Given the description of an element on the screen output the (x, y) to click on. 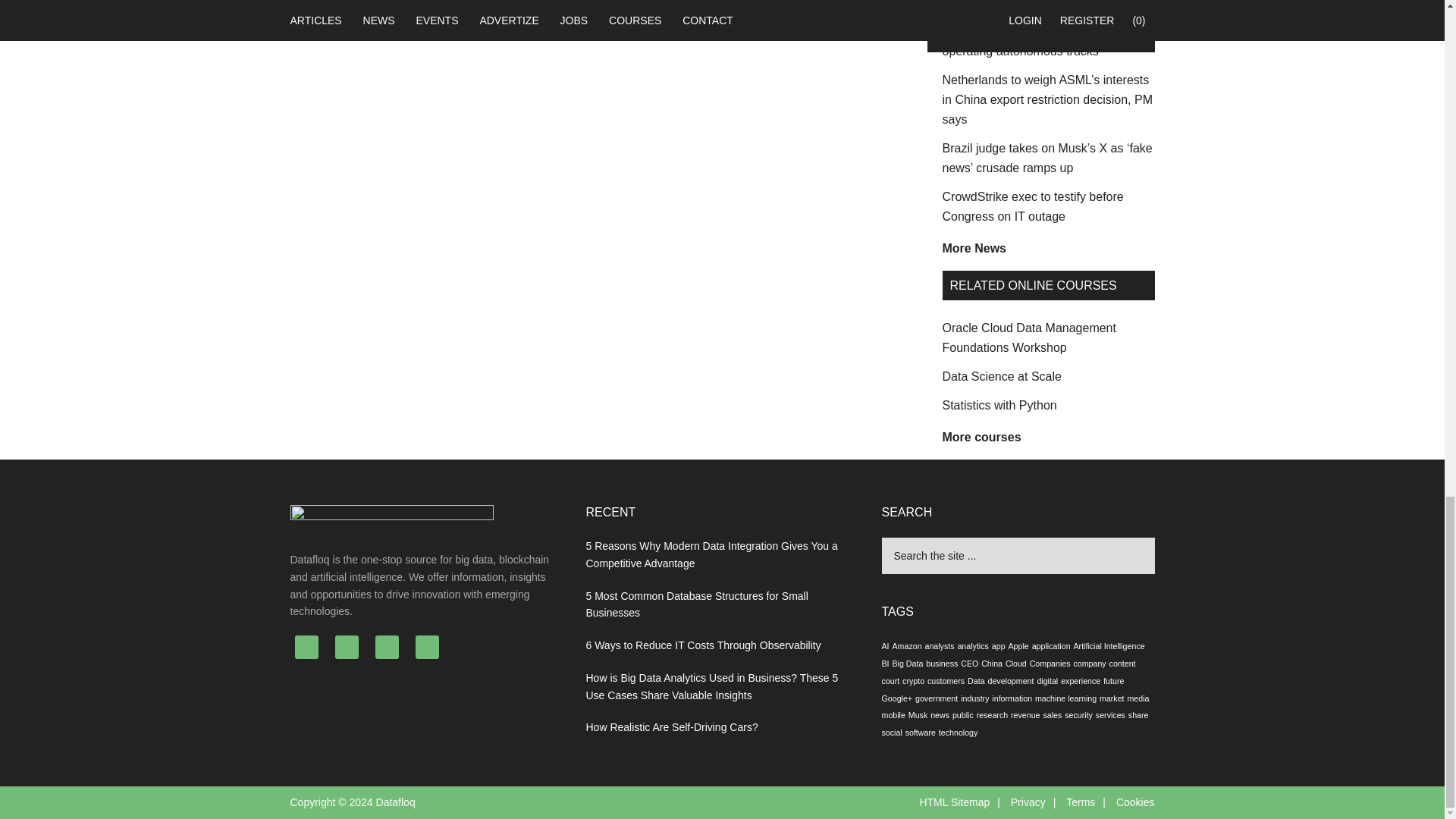
Data Science at Scale (1001, 376)
CrowdStrike exec to testify before Congress on IT outage (1032, 206)
Oracle Cloud Data Management Foundations Workshop (1028, 337)
Statistics with Python (999, 404)
